Given the description of an element on the screen output the (x, y) to click on. 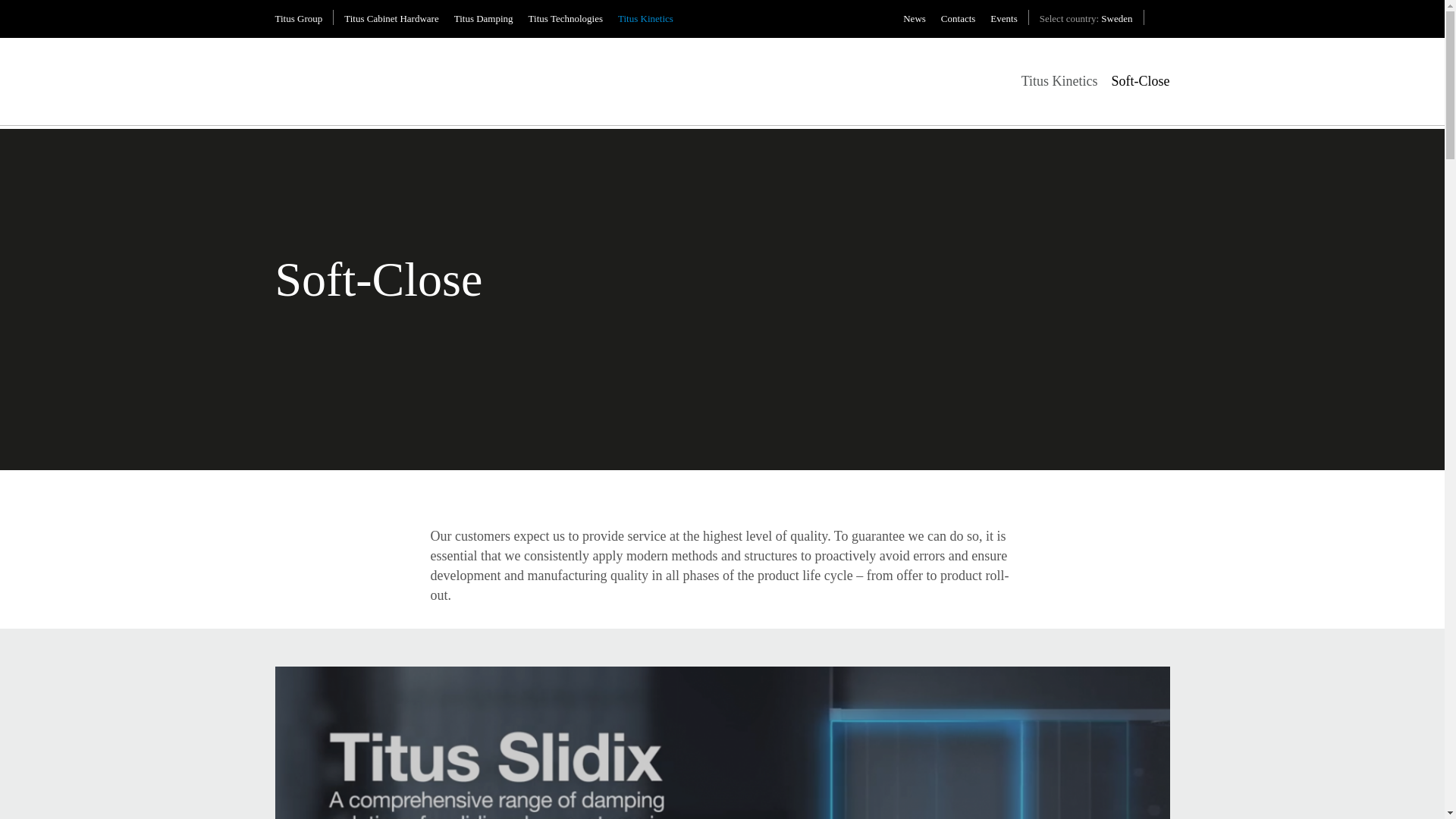
Titus Kinetics (308, 55)
Contacts (957, 19)
Titus Kinetics (644, 19)
Select country: Sweden (1085, 19)
Titus Cabinet Hardware (390, 19)
Open search query (1161, 18)
Titus Damping (483, 19)
Events (1003, 19)
Soft-Close (1139, 79)
Titus Group (298, 19)
News (914, 19)
Titus Kinetics (1059, 79)
Titus Technologies (565, 19)
